Given the description of an element on the screen output the (x, y) to click on. 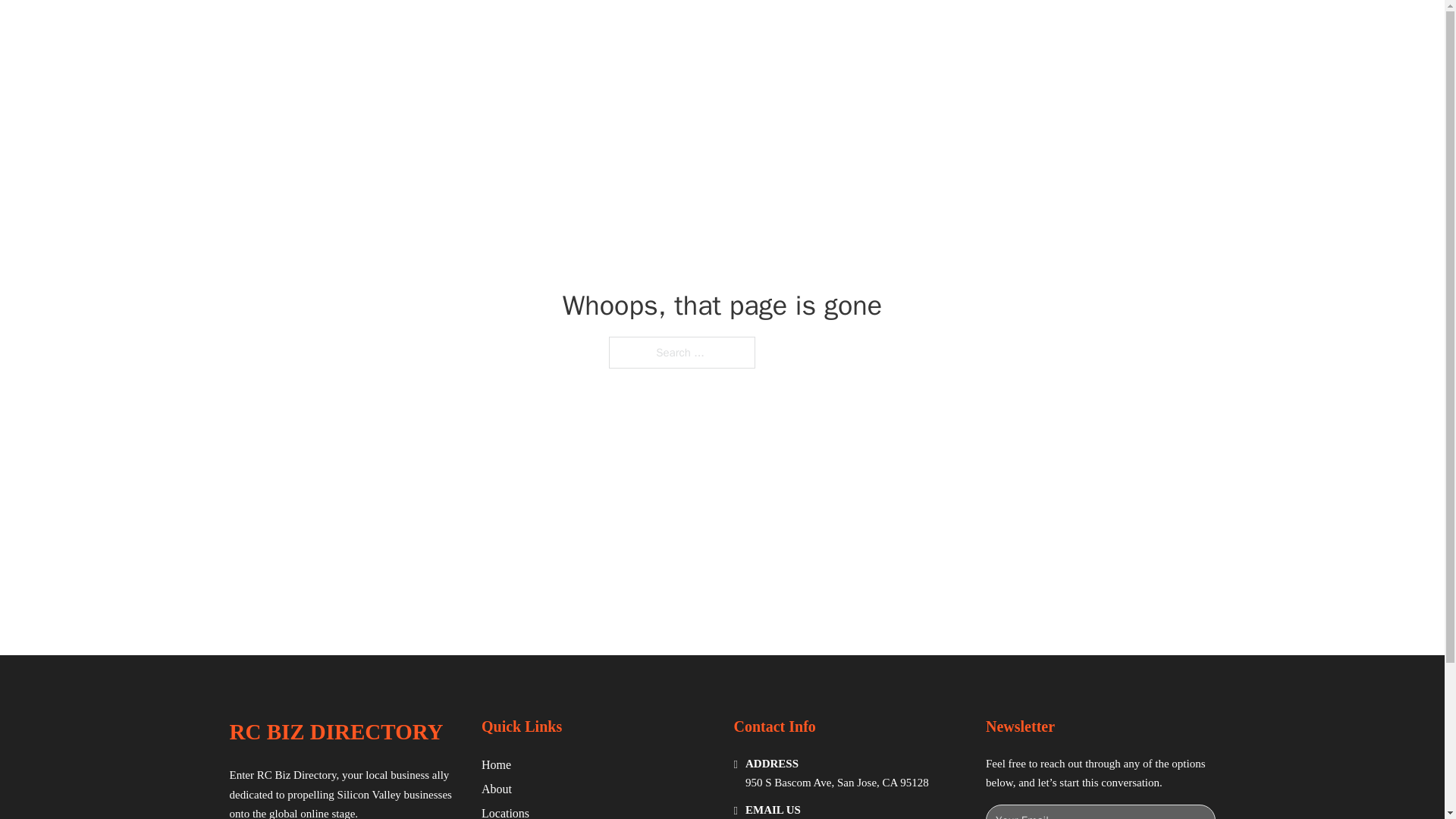
Home (496, 764)
Locations (505, 811)
RC BIZ DIRECTORY (404, 28)
RC BIZ DIRECTORY (335, 732)
LOCATIONS (990, 29)
About (496, 788)
HOME (919, 29)
